Given the description of an element on the screen output the (x, y) to click on. 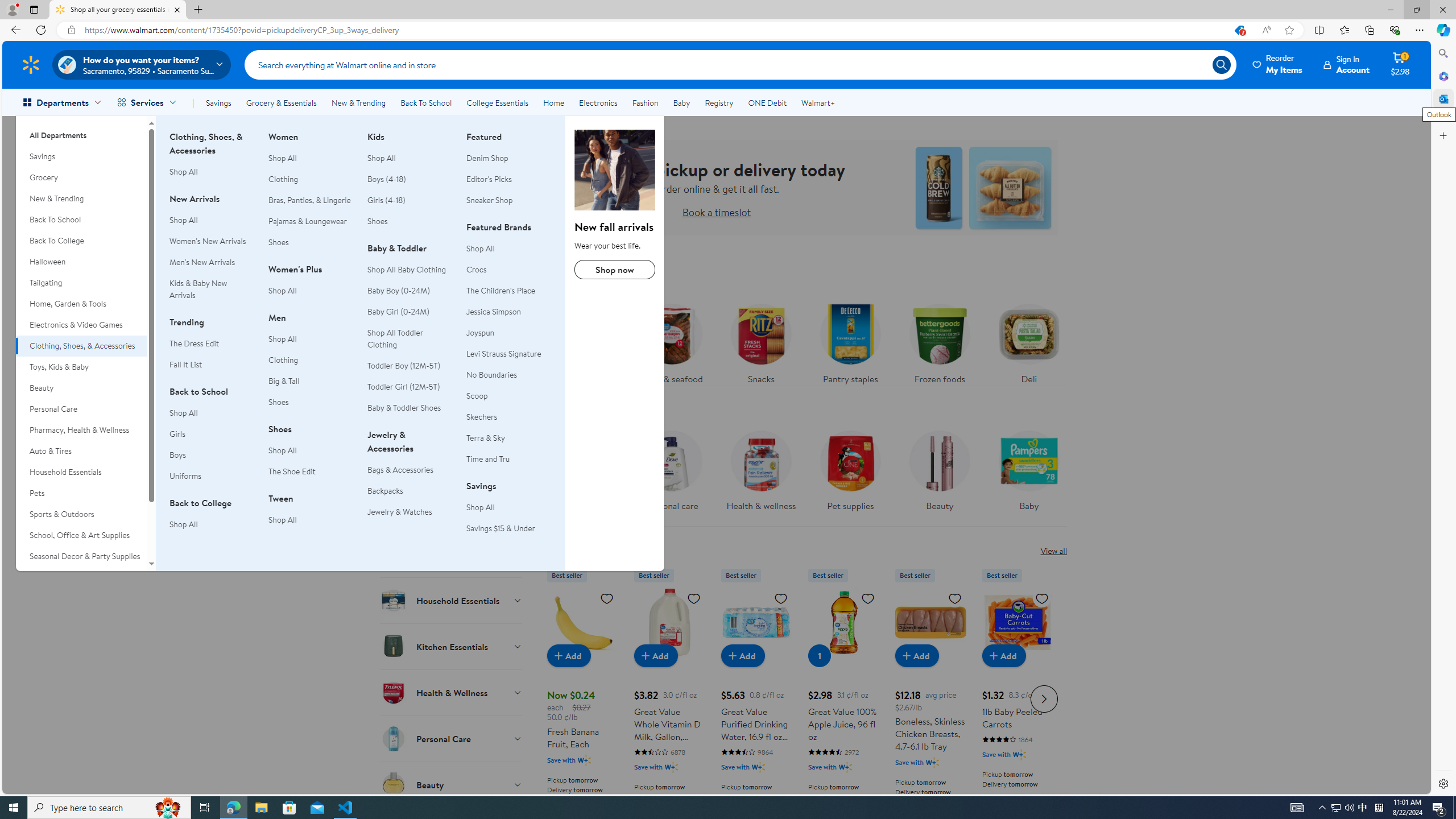
Fall It List (185, 364)
The Shoe Edit (310, 471)
Scoop (476, 395)
Women's New Arrivals (207, 240)
Beverages (451, 461)
Cart contains 1 item Total Amount $2.98 (1399, 64)
The Children's Place (508, 290)
Time and Tru (487, 458)
Girls (176, 433)
Skechers (508, 417)
